Given the description of an element on the screen output the (x, y) to click on. 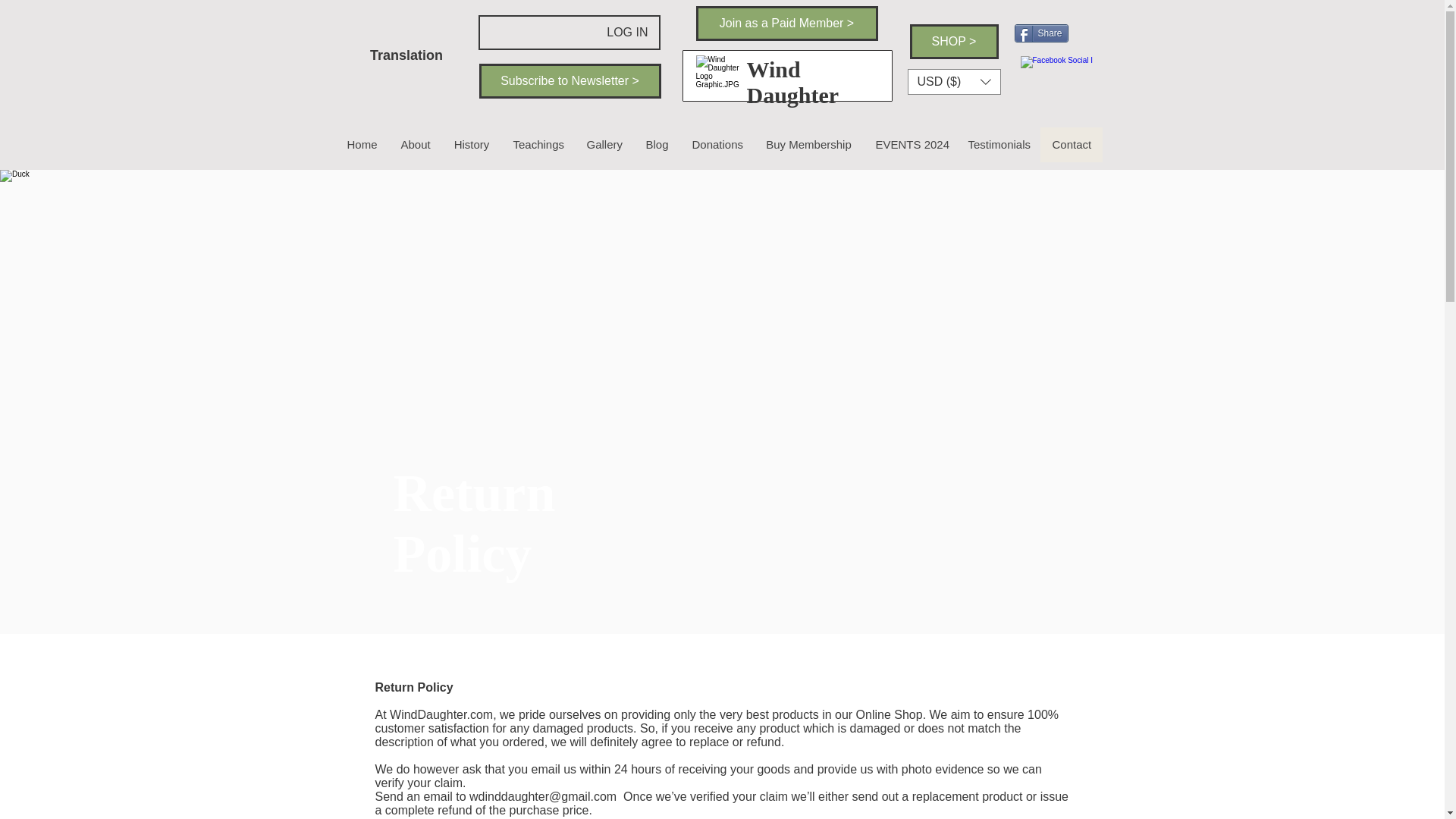
Share (1041, 33)
Share (1041, 33)
Teachings (536, 144)
About (414, 144)
Home (361, 144)
History (470, 144)
LOG IN (626, 32)
